Given the description of an element on the screen output the (x, y) to click on. 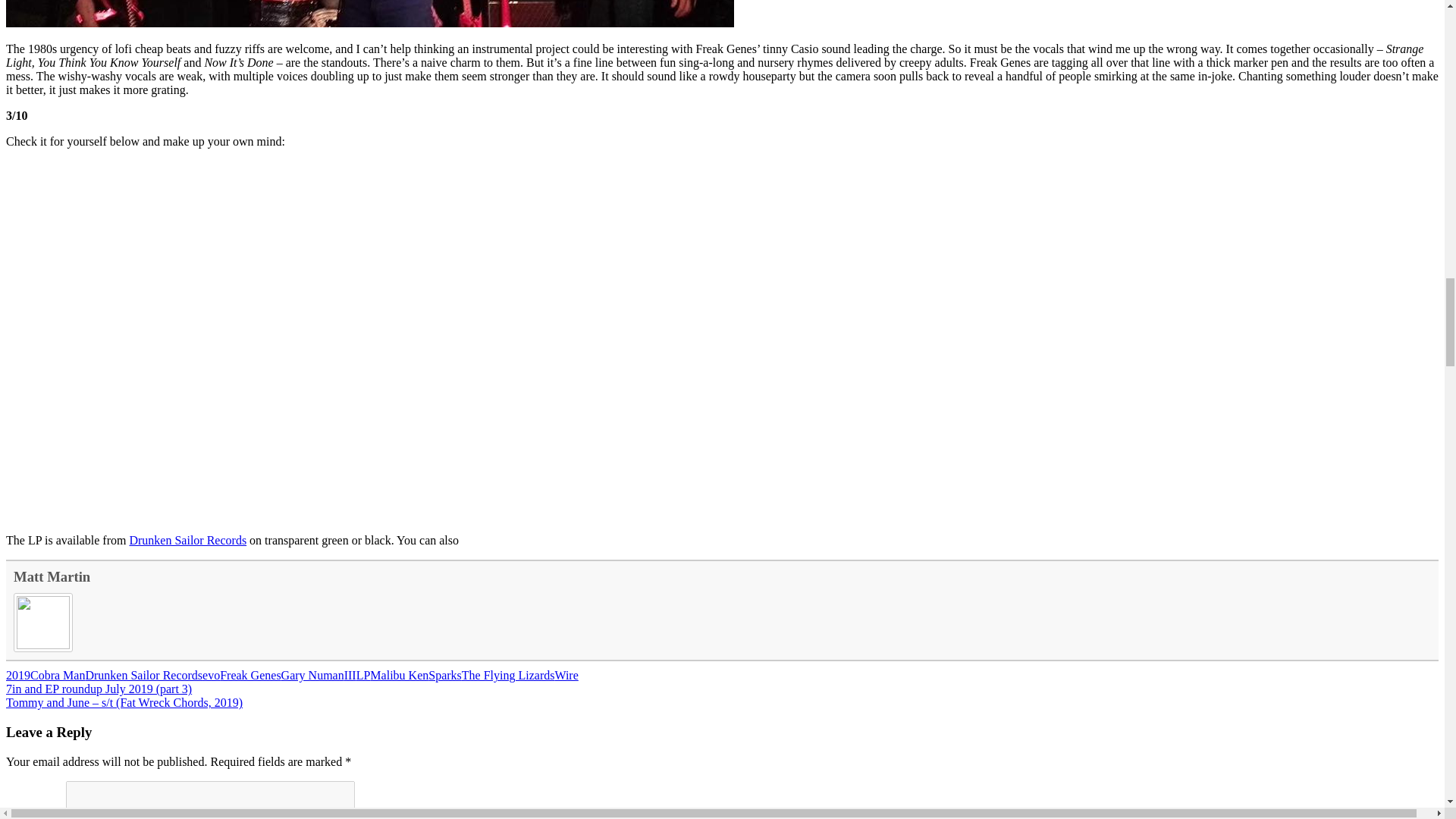
The Flying Lizards (507, 675)
Gary Numan (312, 675)
Drunken Sailor Records (143, 675)
2019 (17, 675)
Cobra Man (57, 675)
Drunken Sailor Records (187, 540)
Sparks (444, 675)
All posts by Matt Martin (51, 576)
LP (363, 675)
Matt Martin (51, 576)
III (349, 675)
Freak Genes (250, 675)
evo (210, 675)
Malibu Ken (398, 675)
Wire (566, 675)
